Given the description of an element on the screen output the (x, y) to click on. 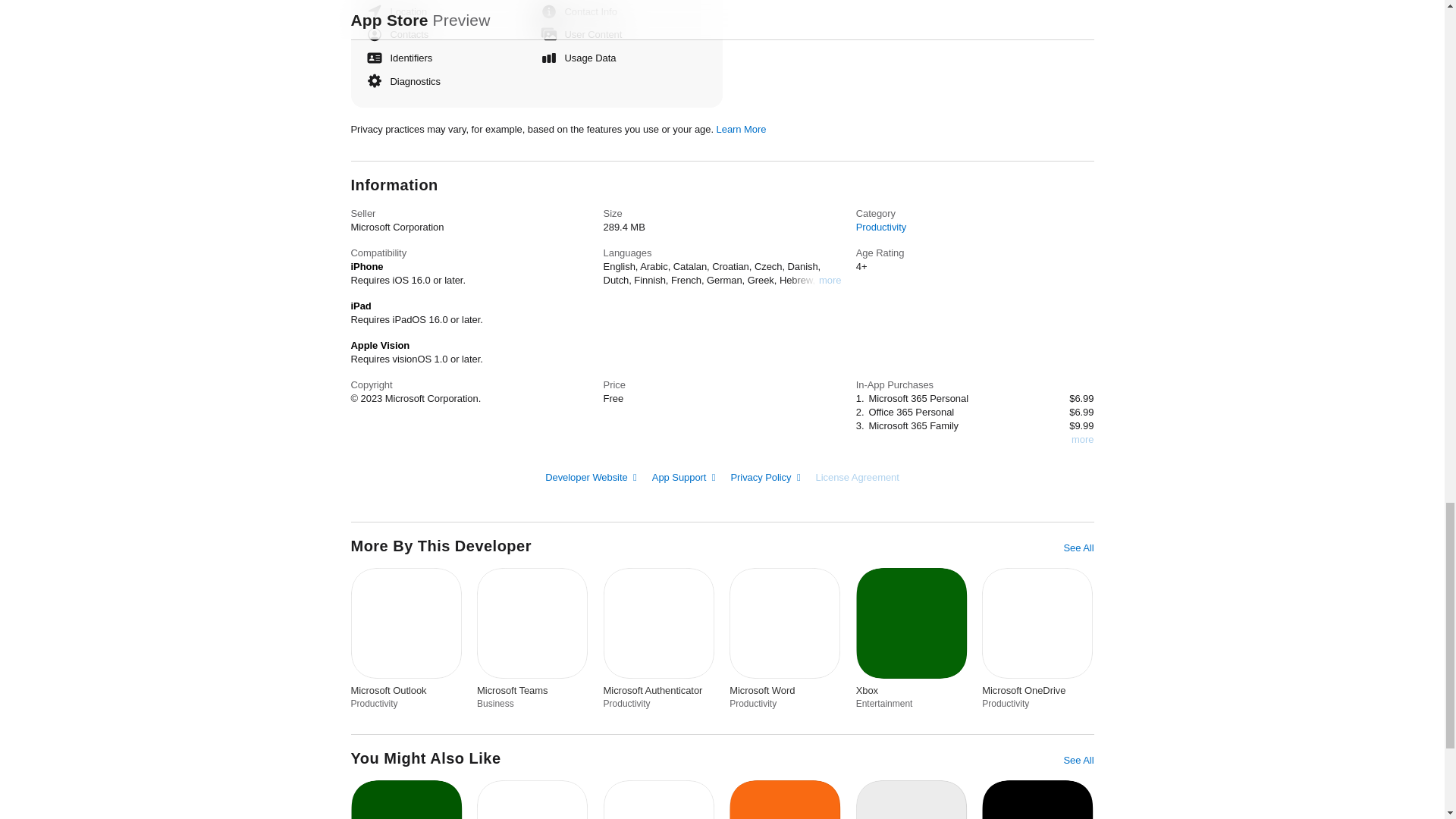
Learn More (741, 128)
App Support (684, 477)
more (829, 279)
License Agreement (857, 477)
more (1082, 438)
Productivity (880, 226)
Privacy Policy (764, 477)
Developer Website (590, 477)
